Given the description of an element on the screen output the (x, y) to click on. 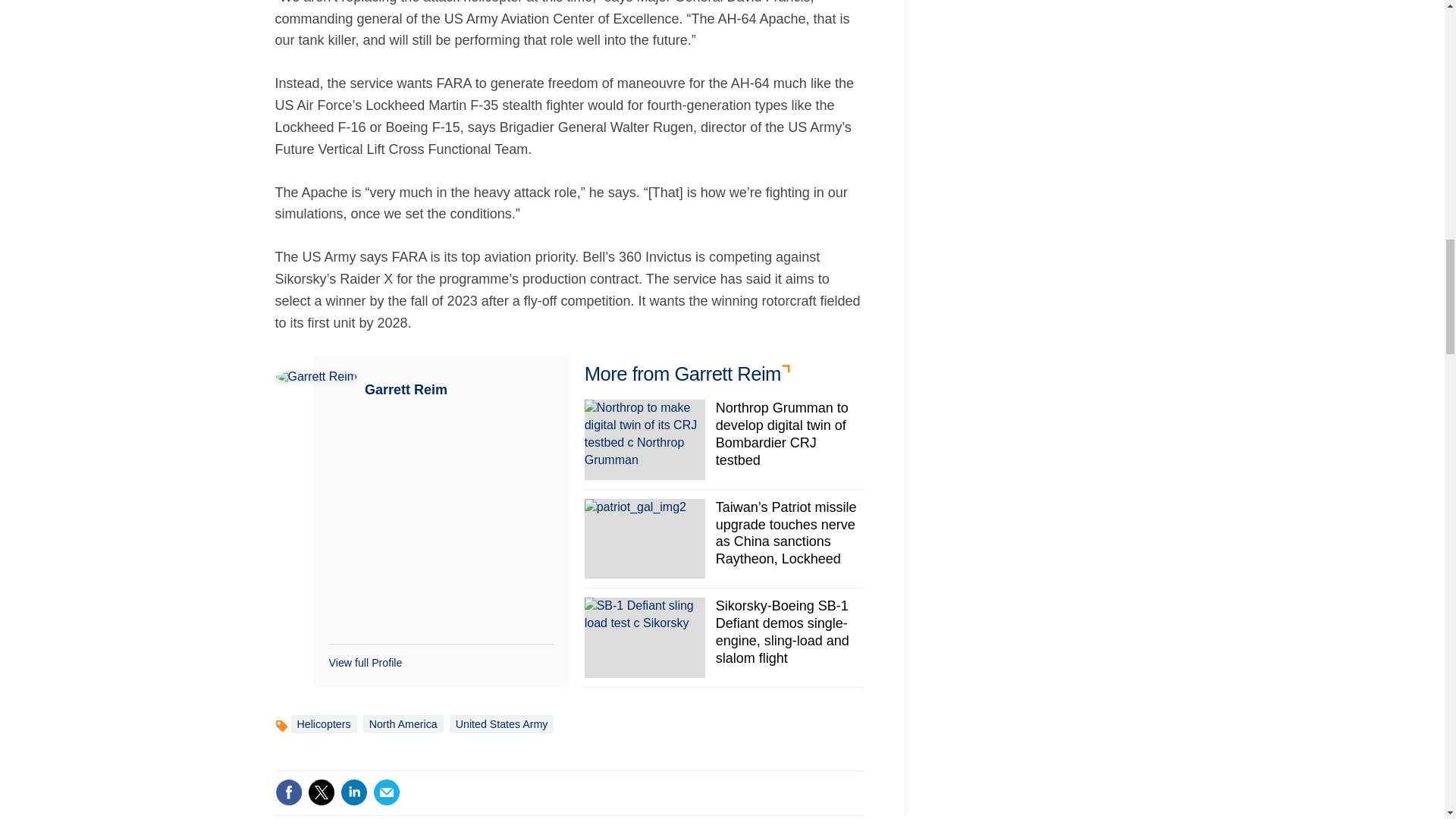
Share this on Twitter (320, 791)
Share this on Linked in (352, 791)
Email this article (386, 791)
Share this on Facebook (288, 791)
